Given the description of an element on the screen output the (x, y) to click on. 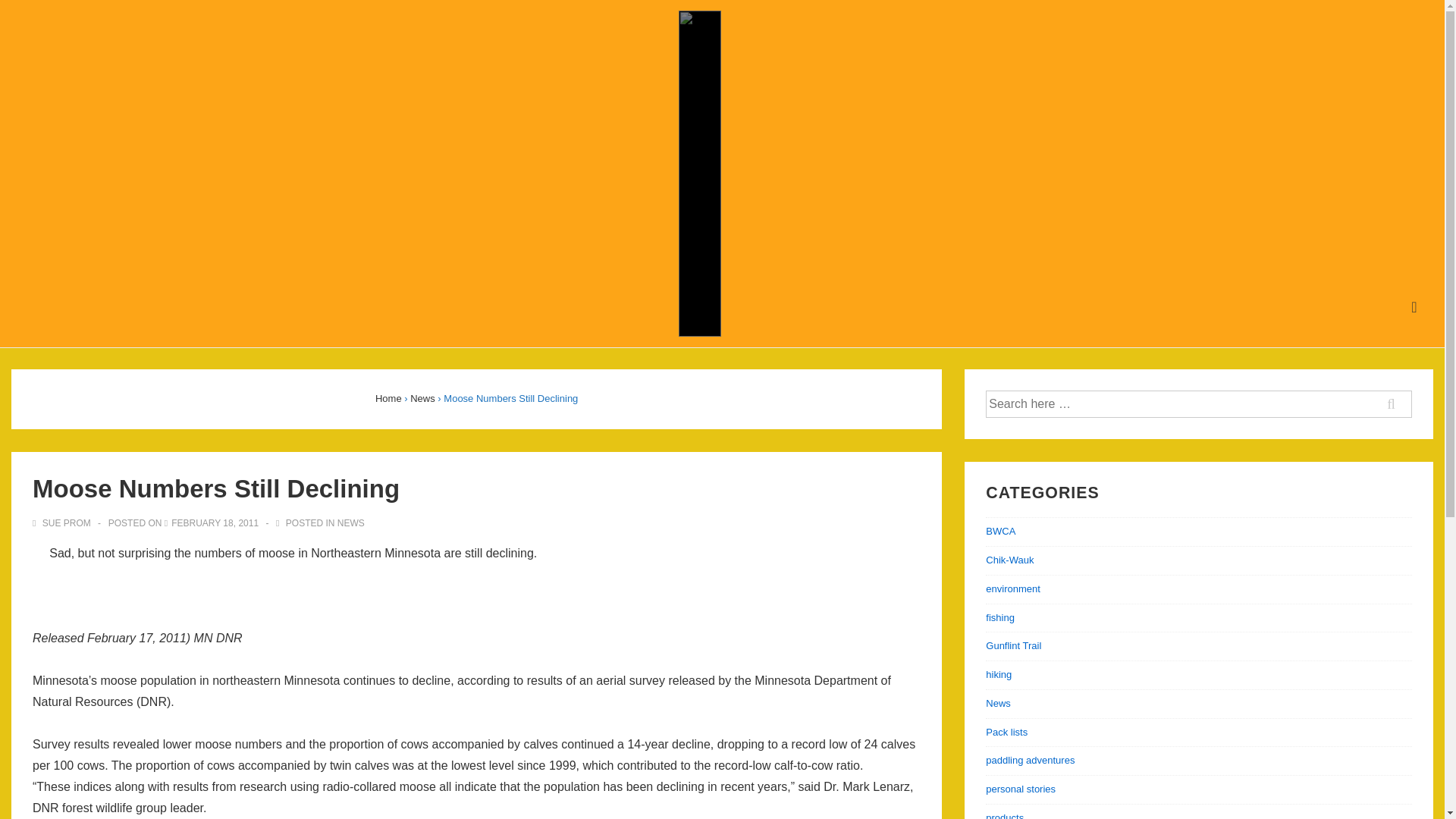
News (997, 703)
NEWS (351, 522)
Chik-Wauk (1009, 559)
FEBRUARY 18, 2011 (215, 522)
BWCA (999, 531)
Home (388, 398)
MENU (1414, 307)
View all posts by Sue Prom (62, 522)
Moose Numbers Still Declining (215, 522)
fishing (999, 617)
